Given the description of an element on the screen output the (x, y) to click on. 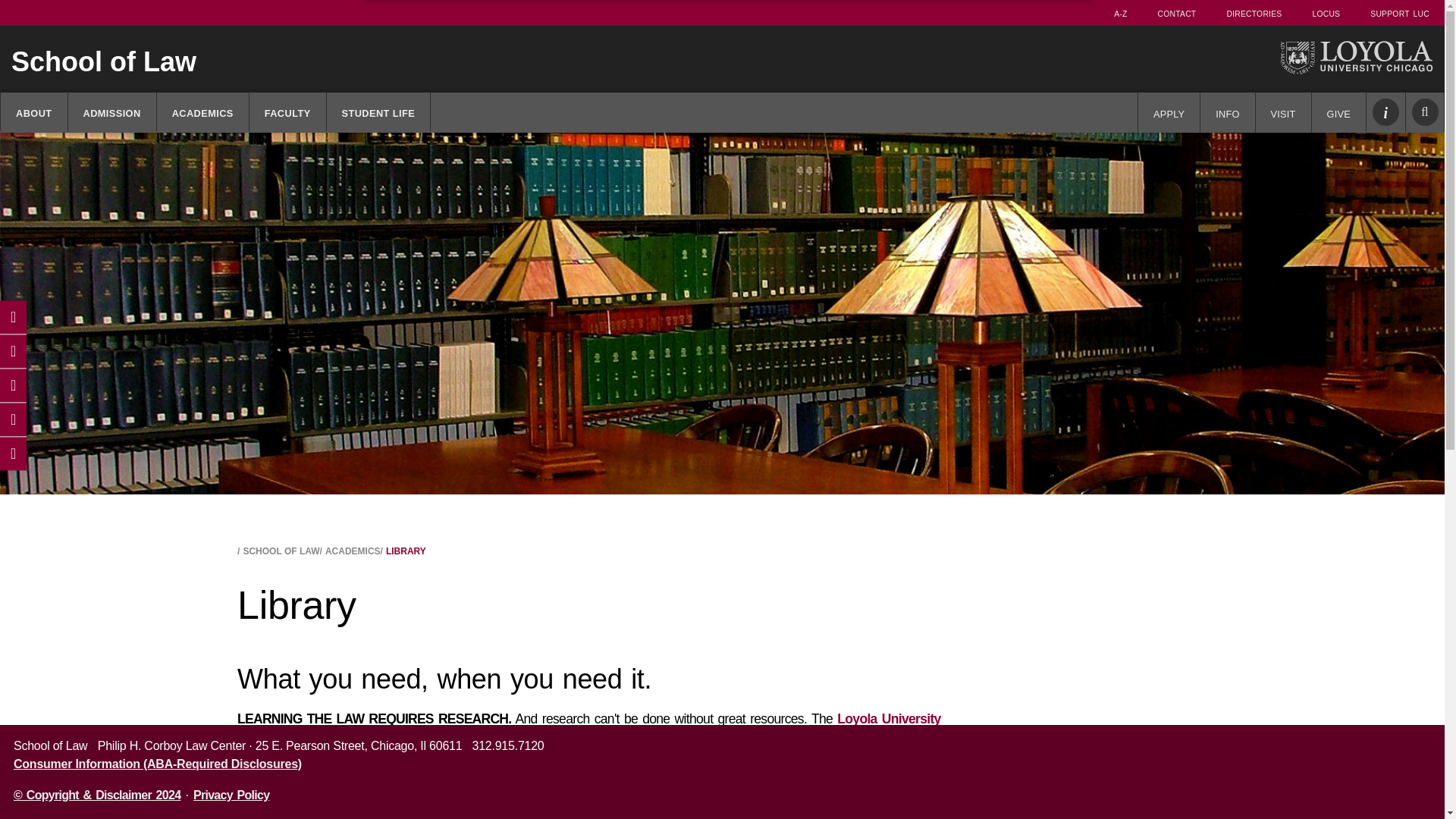
Loyola University Chicago (1355, 57)
LOCUS (1326, 12)
Directories (1254, 12)
Info Links (1386, 112)
X Link (13, 350)
Search (1425, 112)
A-Z (1120, 12)
Contact (1176, 12)
Facebook Link (13, 316)
School of Law (582, 61)
